Given the description of an element on the screen output the (x, y) to click on. 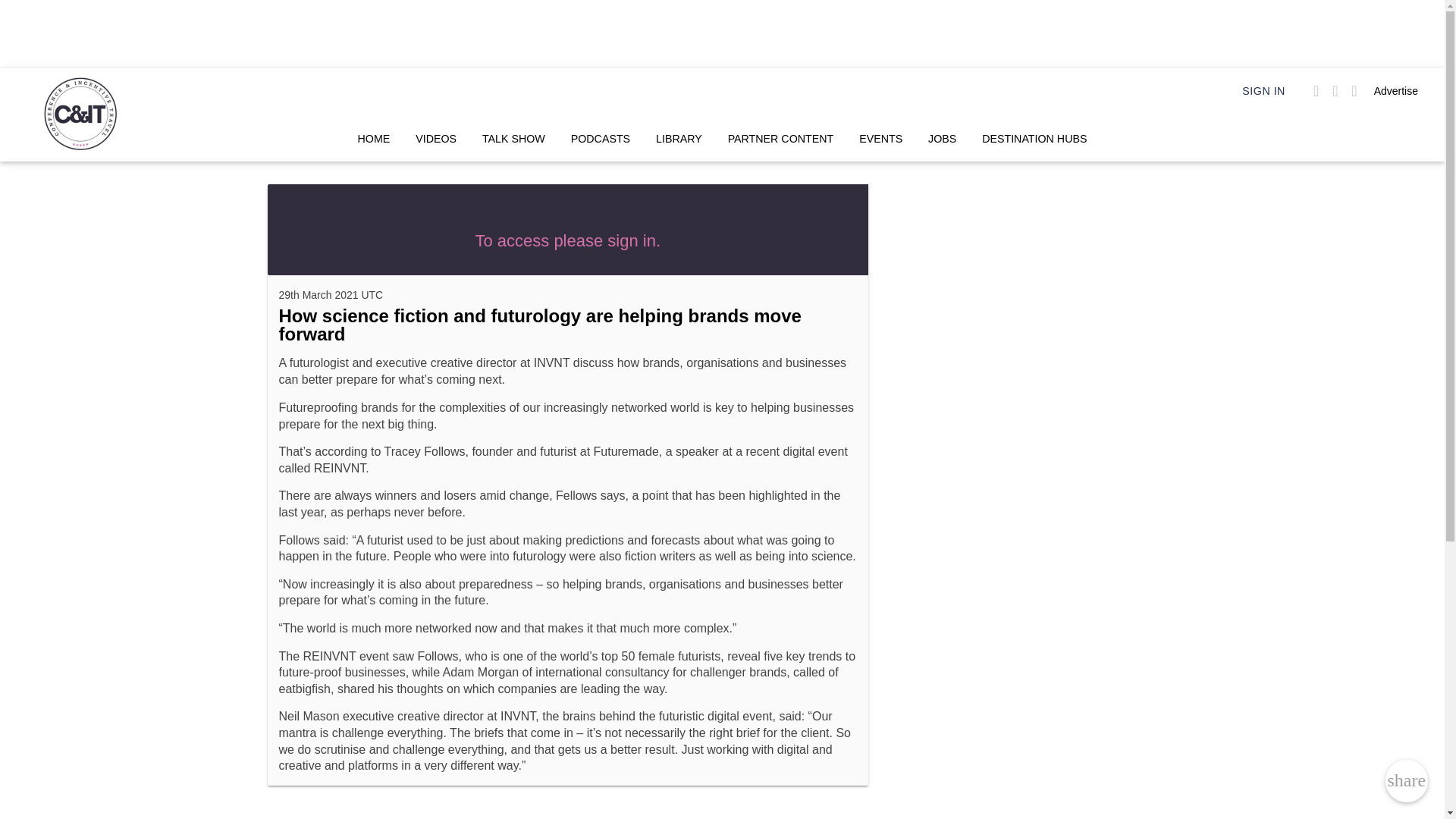
PARTNER CONTENT (780, 138)
Advertise (1396, 90)
LIBRARY (679, 138)
VIDEOS (435, 138)
EVENTS (880, 138)
TALK SHOW (513, 138)
PODCASTS (600, 138)
HOME (373, 138)
SIGN IN (1263, 90)
JOBS (942, 138)
